Given the description of an element on the screen output the (x, y) to click on. 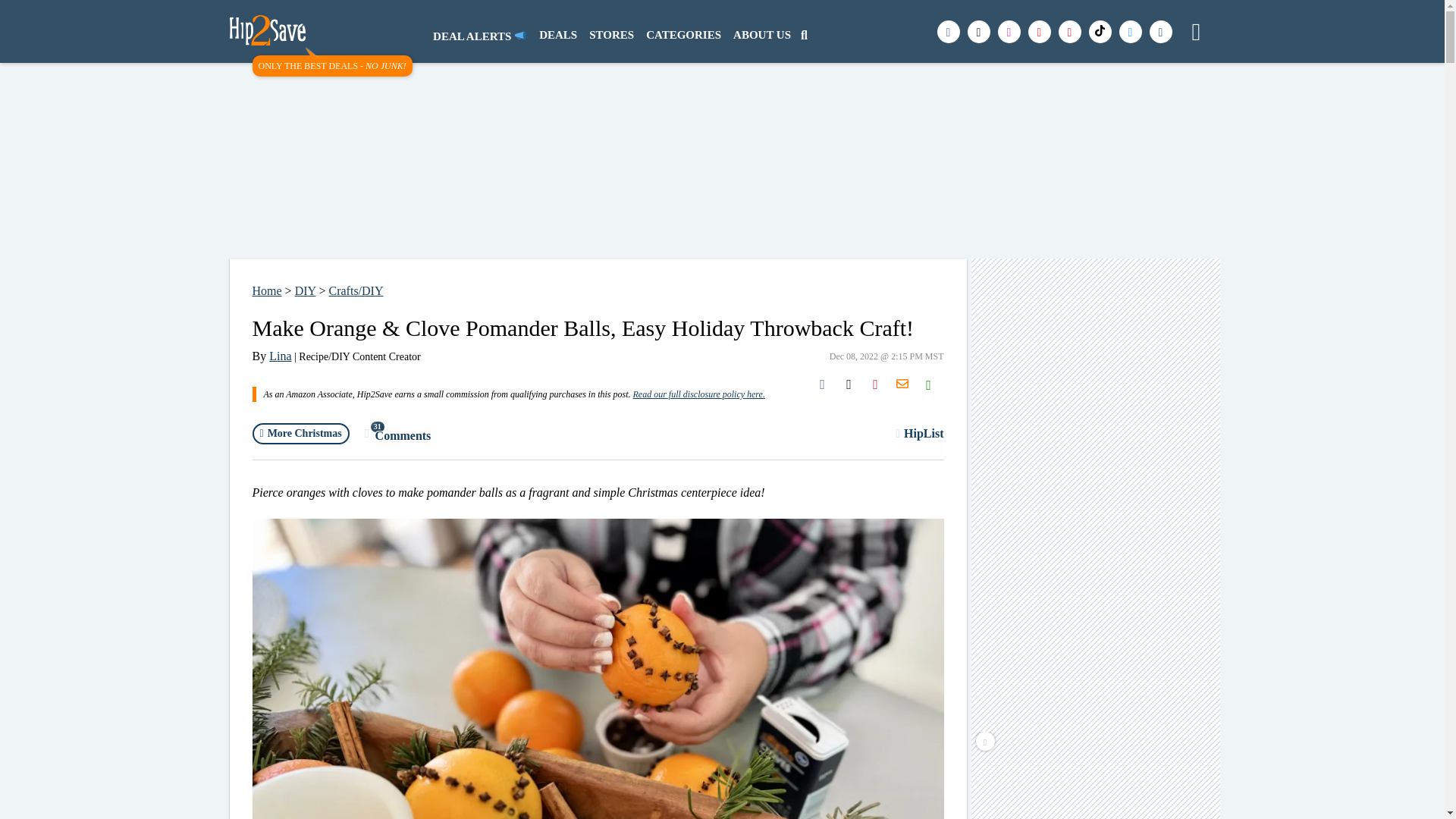
DIY (305, 290)
More Christmas (300, 433)
STORES (611, 36)
DEALS (557, 36)
DEAL ALERTS (479, 36)
HipList (397, 434)
Click to share on H2S Email (919, 433)
Lina (902, 384)
Click to share on SMS (280, 355)
ABOUT US (927, 384)
3rd party ad content (761, 36)
Read our full disclosure policy here. (1095, 783)
Home (697, 394)
CATEGORIES (266, 290)
